Given the description of an element on the screen output the (x, y) to click on. 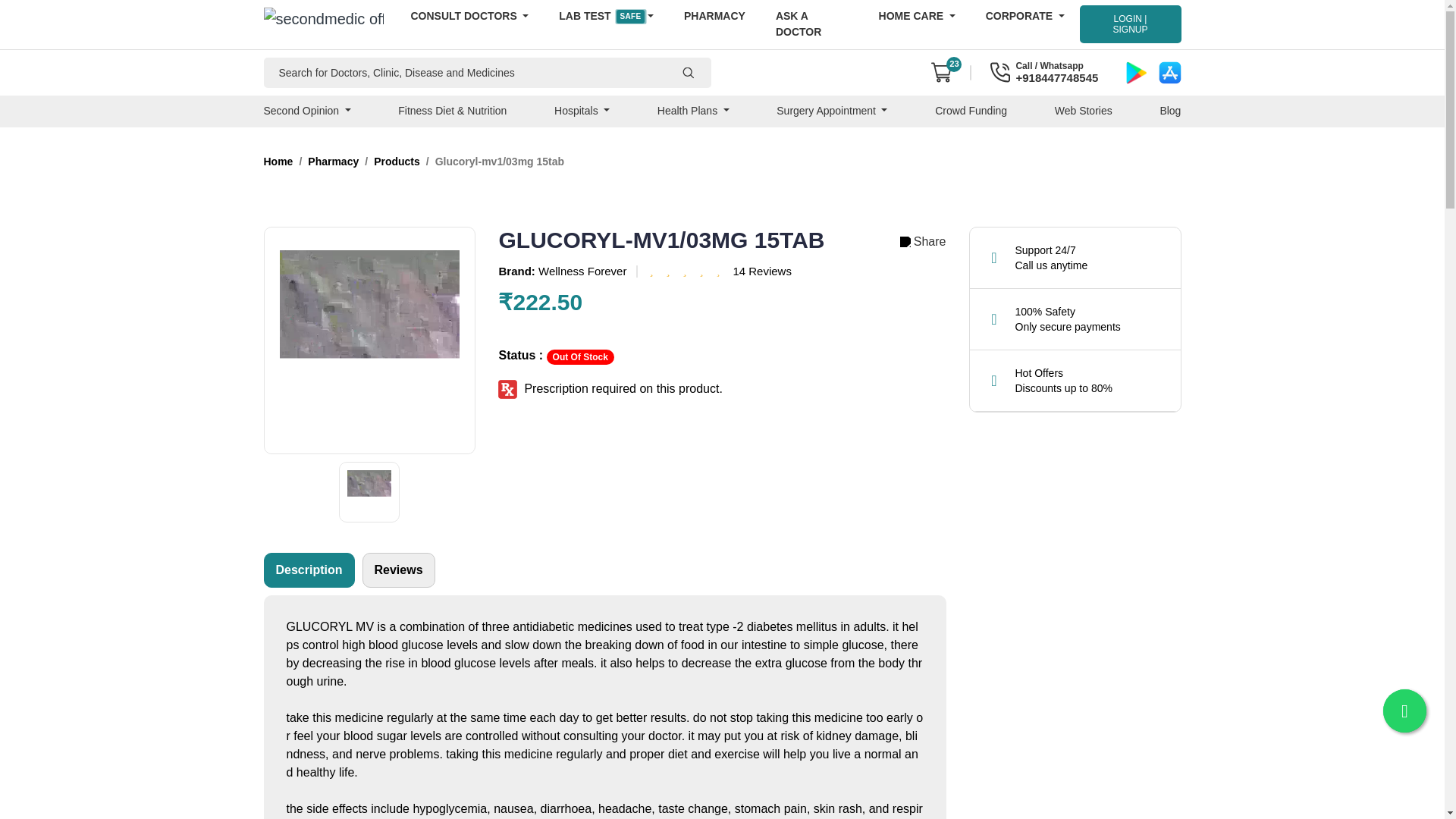
Second Opinion (312, 111)
CONSULT DOCTORS (470, 15)
Health Plans (693, 111)
PHARMACY (714, 15)
LAB TEST SAFE (605, 15)
ASK A DOCTOR (811, 24)
Hospitals (582, 111)
CORPORATE (1025, 15)
HOME CARE (917, 15)
23 (941, 72)
